Given the description of an element on the screen output the (x, y) to click on. 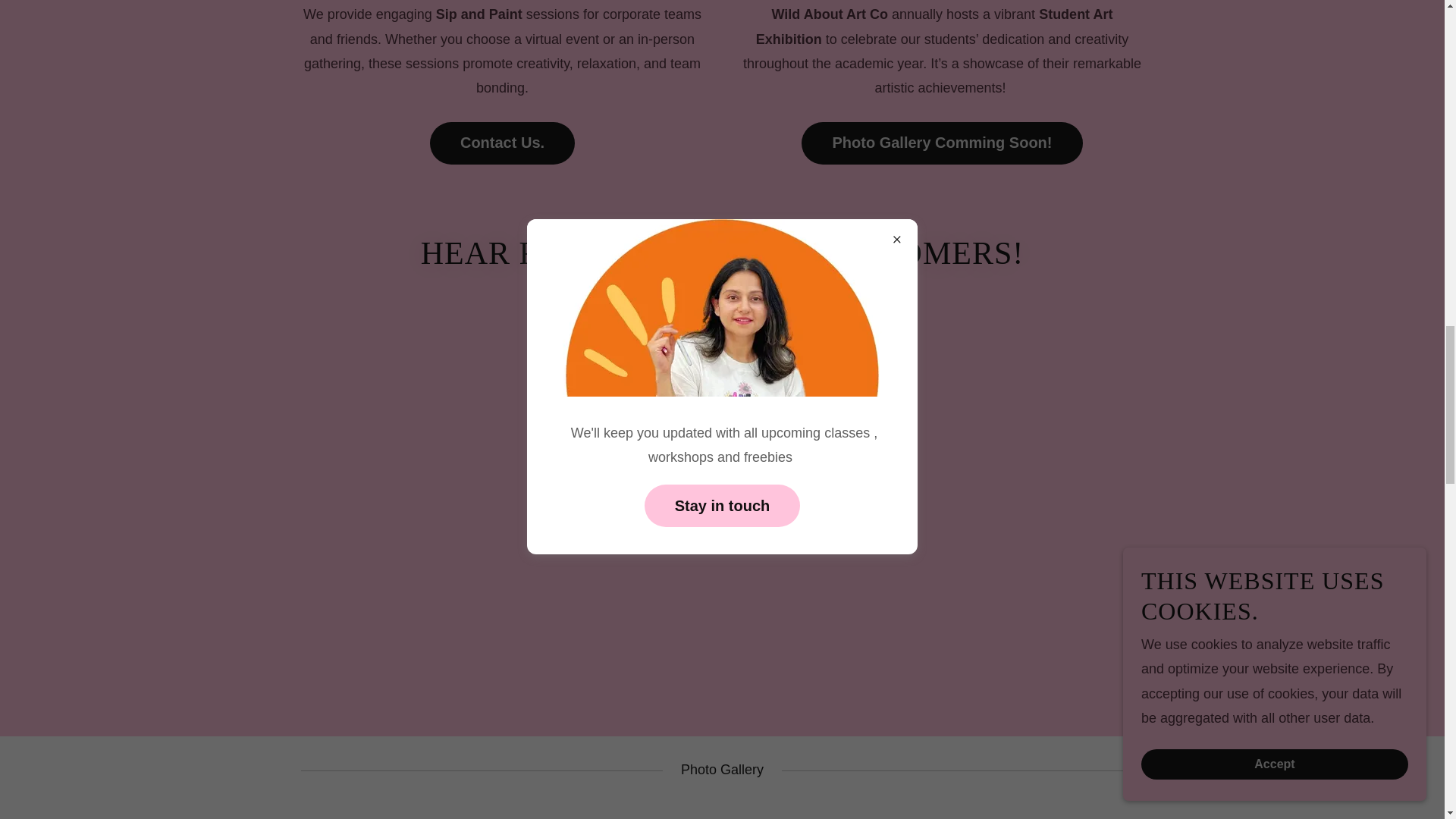
Photo Gallery Comming Soon! (941, 143)
Contact Us. (502, 143)
